Given the description of an element on the screen output the (x, y) to click on. 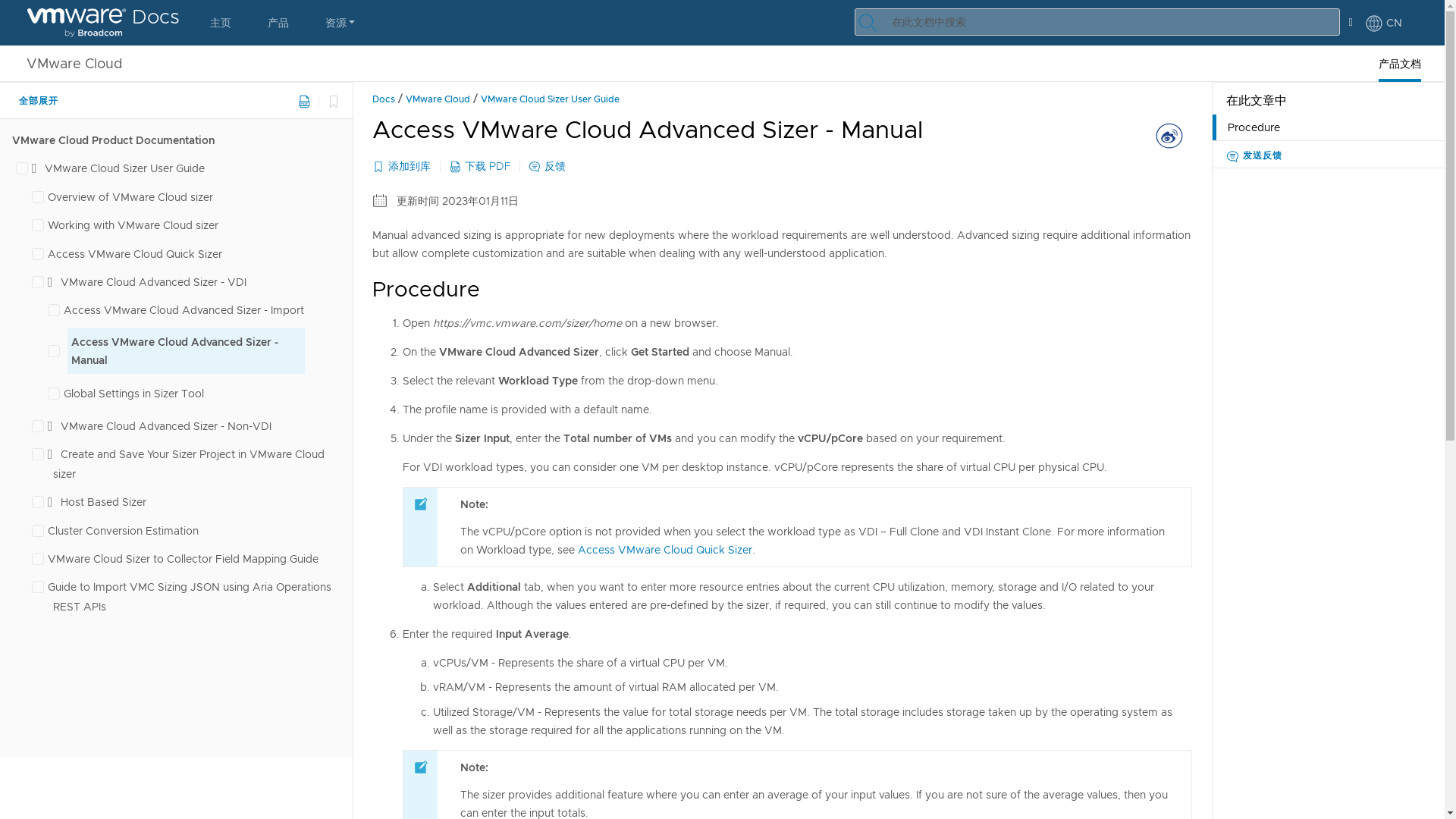
Docs (103, 22)
